Given the description of an element on the screen output the (x, y) to click on. 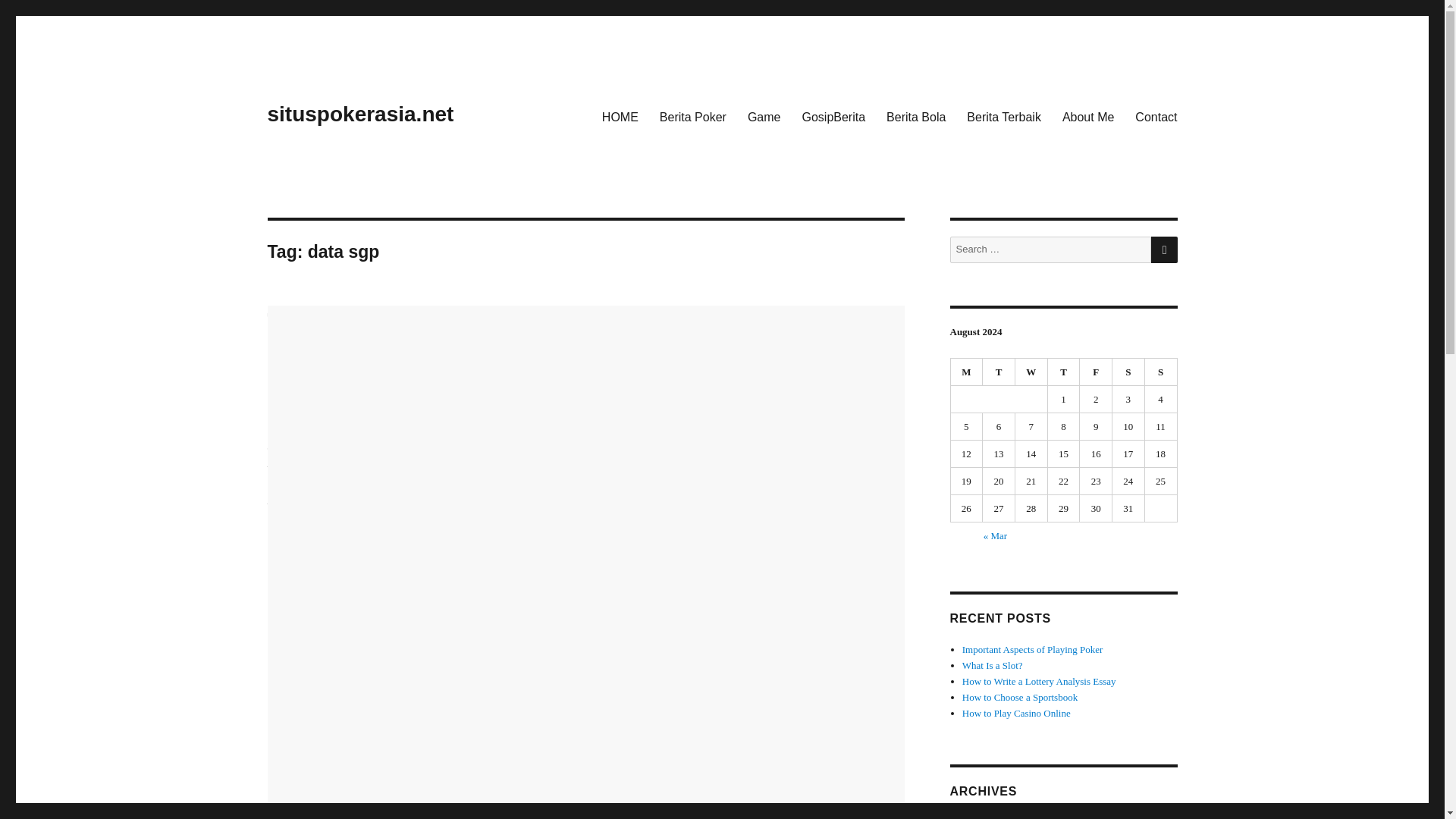
togel (321, 489)
July 7, 2022 (293, 446)
Wednesday (1031, 371)
Game (764, 116)
March 2024 (986, 817)
HOME (620, 116)
GosipBerita (833, 116)
Monday (967, 371)
How to Write a Lottery Analysis Essay (1039, 681)
What Is a Slot? (992, 665)
